Given the description of an element on the screen output the (x, y) to click on. 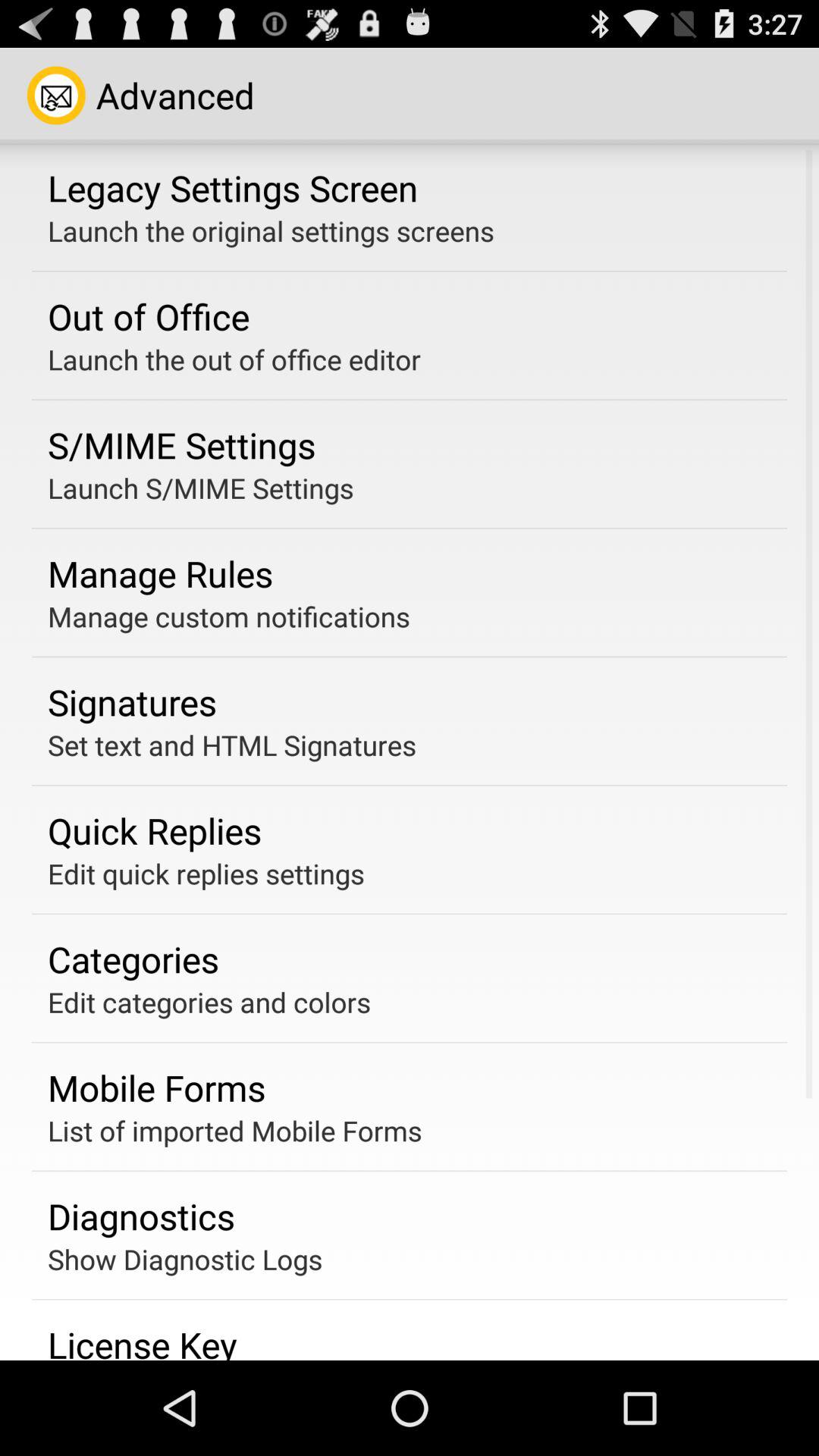
flip to the manage custom notifications icon (228, 616)
